Given the description of an element on the screen output the (x, y) to click on. 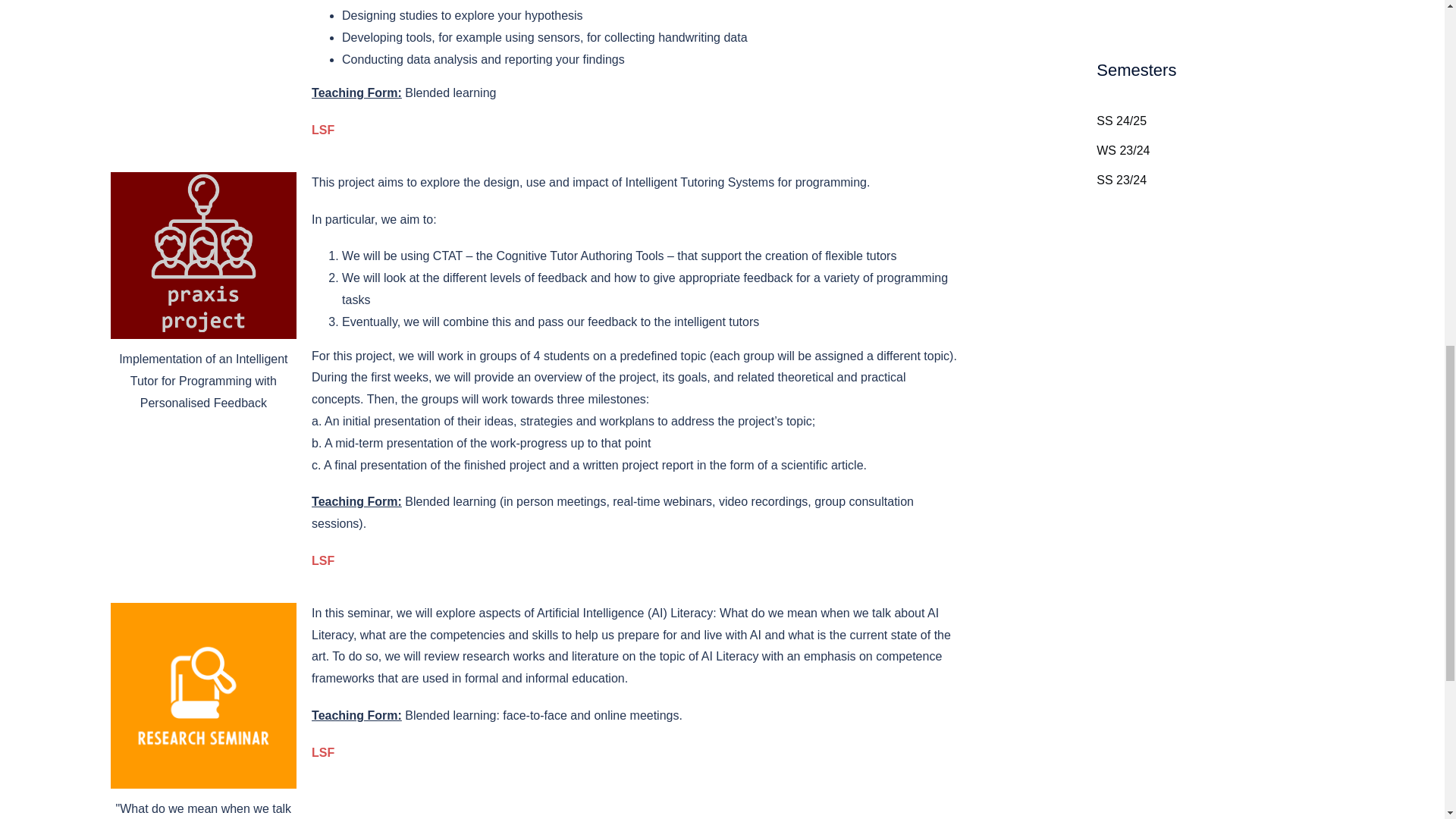
LSF (322, 560)
LSF (322, 752)
LSF (322, 129)
